Given the description of an element on the screen output the (x, y) to click on. 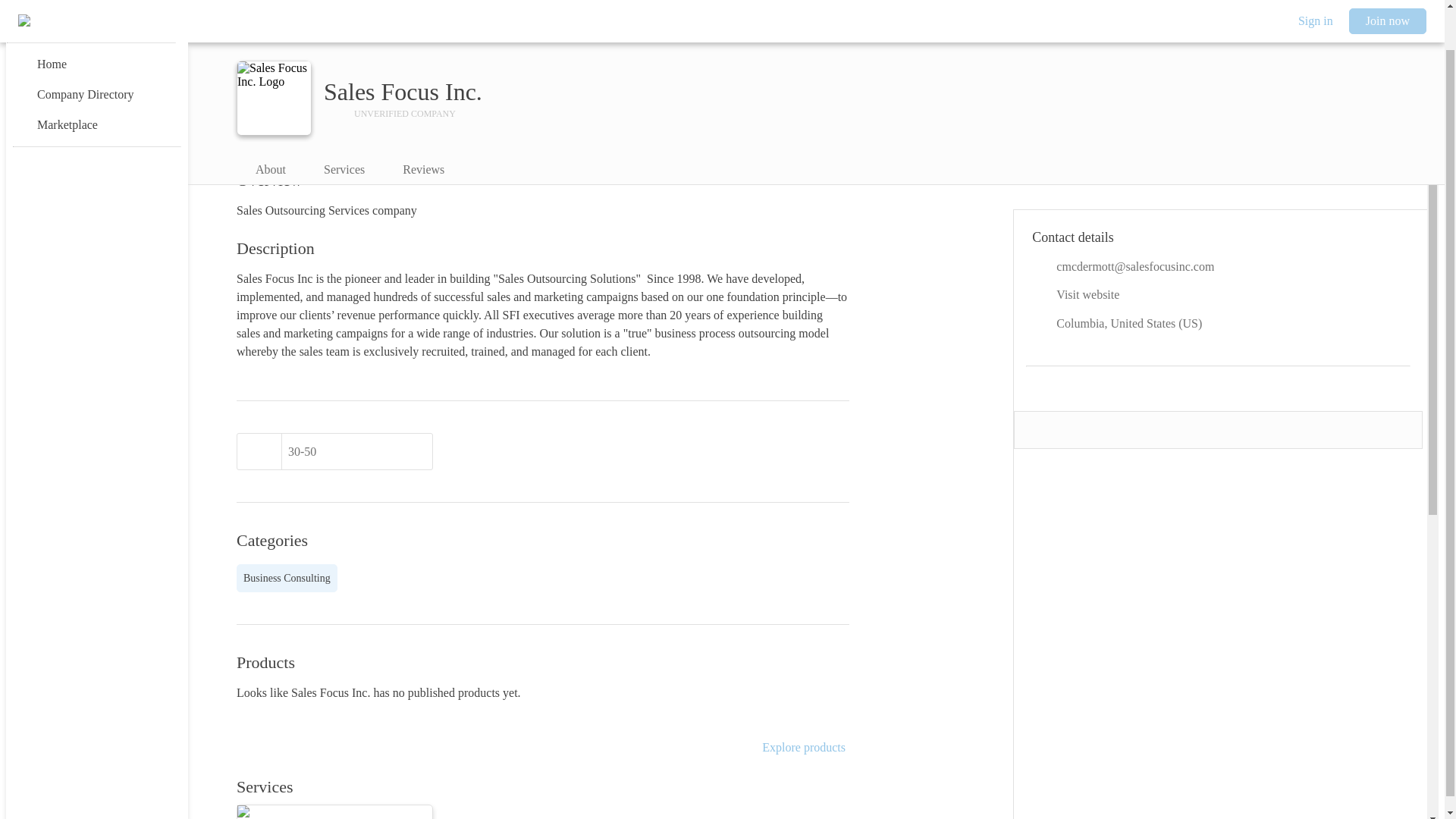
Visit website (1218, 294)
Business Consulting (286, 578)
Company Directory (96, 51)
Home (96, 21)
Business Consulting (286, 578)
Explore products (803, 747)
Marketplace (96, 82)
